Given the description of an element on the screen output the (x, y) to click on. 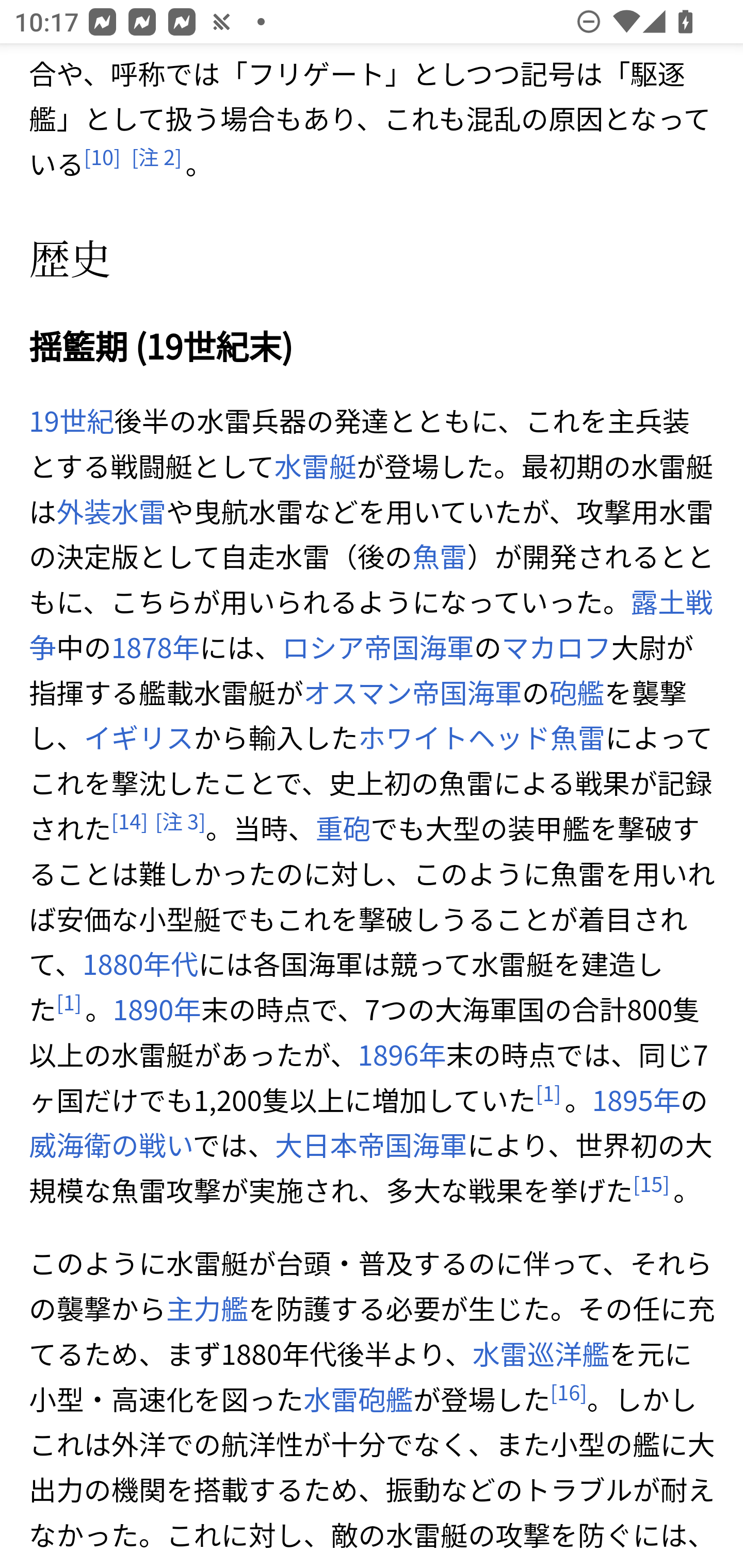
[] [ 10 ] (101, 158)
[注 ] [注  2 ] (156, 158)
19世紀 (71, 421)
水雷艇 (314, 466)
外装水雷 (111, 510)
魚雷 (439, 556)
露土戦争 (370, 624)
1878年 (154, 646)
ロシア帝国海軍 (377, 646)
マカロフ (556, 646)
オスマン帝国海軍 (412, 692)
砲艦 (576, 692)
イギリス (138, 737)
ホワイトヘッド魚雷 (482, 737)
[] [ 14 ] (128, 821)
[注 ] [注  3 ] (180, 821)
重砲 (343, 828)
1880年代 (139, 964)
[] [ 1 ] (69, 1002)
1890年 (157, 1009)
1896年 (402, 1054)
[] [ 1 ] (547, 1093)
1895年 (634, 1099)
威海衛の戦い (110, 1145)
大日本帝国海軍 (370, 1145)
[] [ 15 ] (650, 1183)
主力艦 (206, 1308)
水雷巡洋艦 (540, 1353)
[] [ 16 ] (568, 1392)
水雷砲艦 (357, 1399)
